Given the description of an element on the screen output the (x, y) to click on. 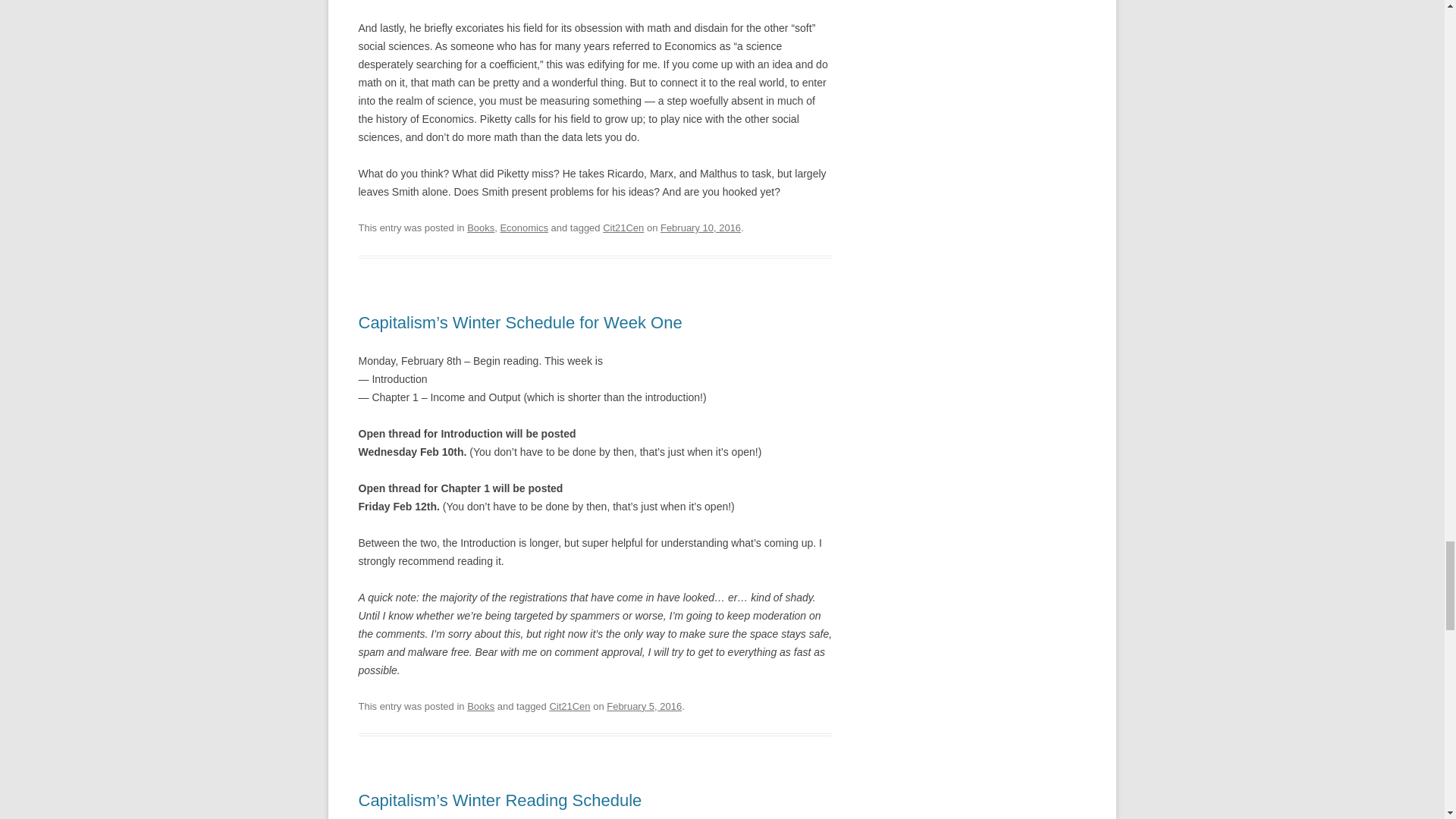
Economics (523, 227)
February 5, 2016 (644, 706)
2:00 am (701, 227)
Cit21Cen (622, 227)
Cit21Cen (568, 706)
6:33 pm (644, 706)
February 10, 2016 (701, 227)
Books (481, 706)
Books (481, 227)
